Given the description of an element on the screen output the (x, y) to click on. 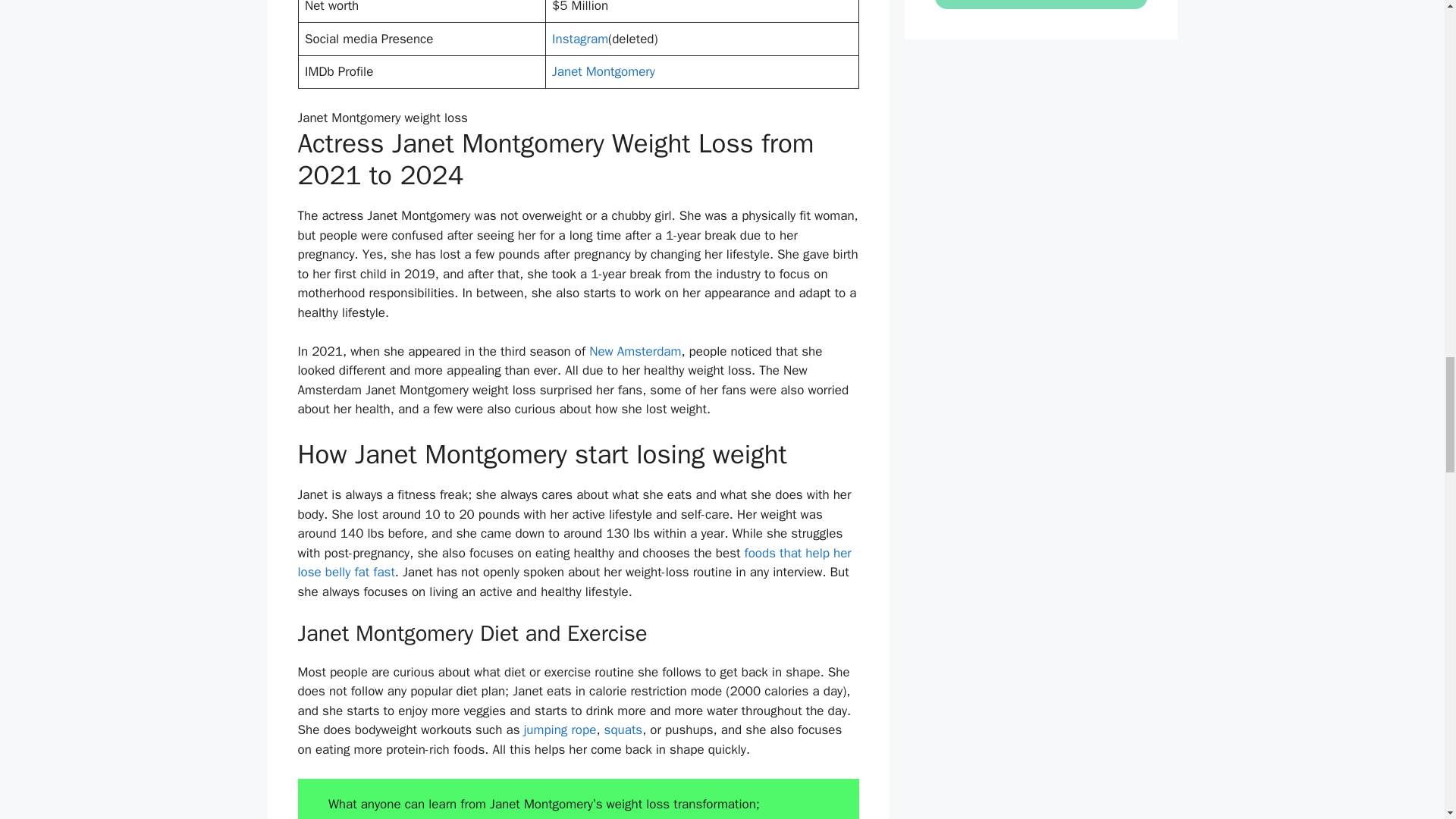
squats (623, 729)
foods that help her lose belly fat fast (573, 562)
Janet Montgomery (603, 71)
Instagram (579, 38)
New Amsterdam (633, 351)
jumping rope (560, 729)
